Given the description of an element on the screen output the (x, y) to click on. 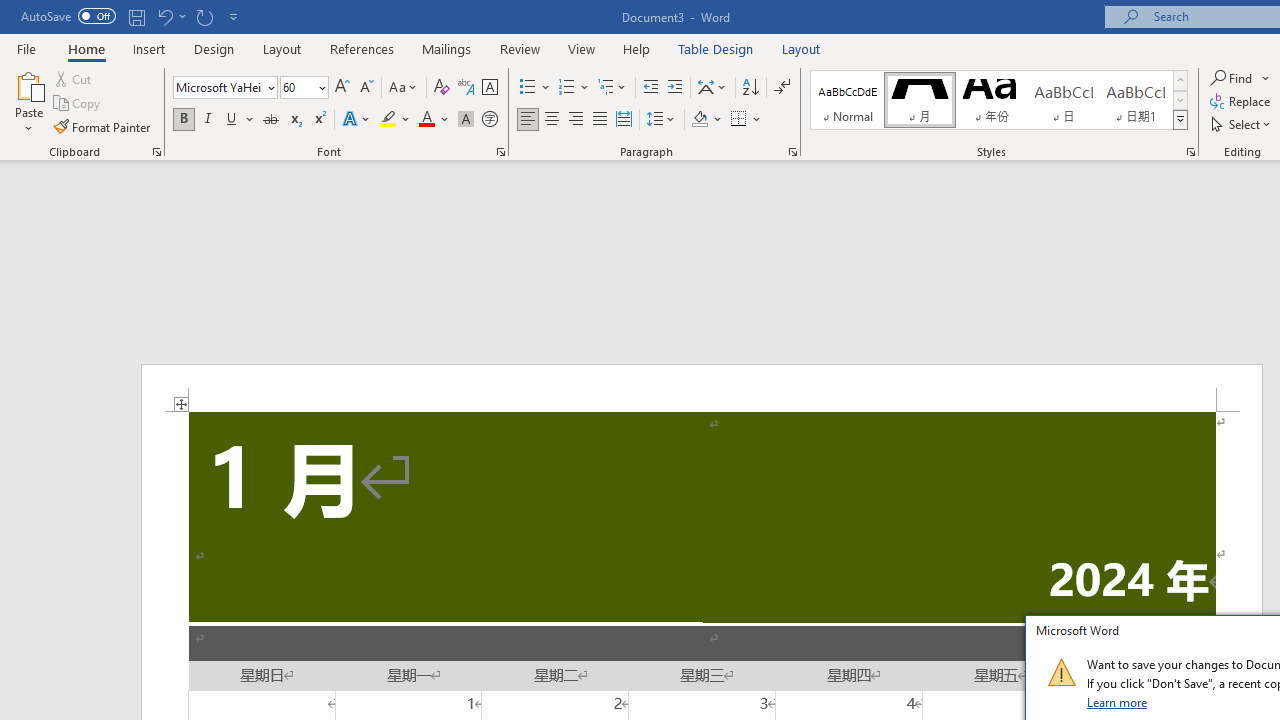
Subscript (294, 119)
Design (214, 48)
Align Left (527, 119)
Character Border (489, 87)
Customize Quick Access Toolbar (234, 15)
Paste (28, 102)
Borders (739, 119)
Row Down (1179, 100)
Layout (801, 48)
Multilevel List (613, 87)
Help (637, 48)
Italic (207, 119)
Line and Paragraph Spacing (661, 119)
